Given the description of an element on the screen output the (x, y) to click on. 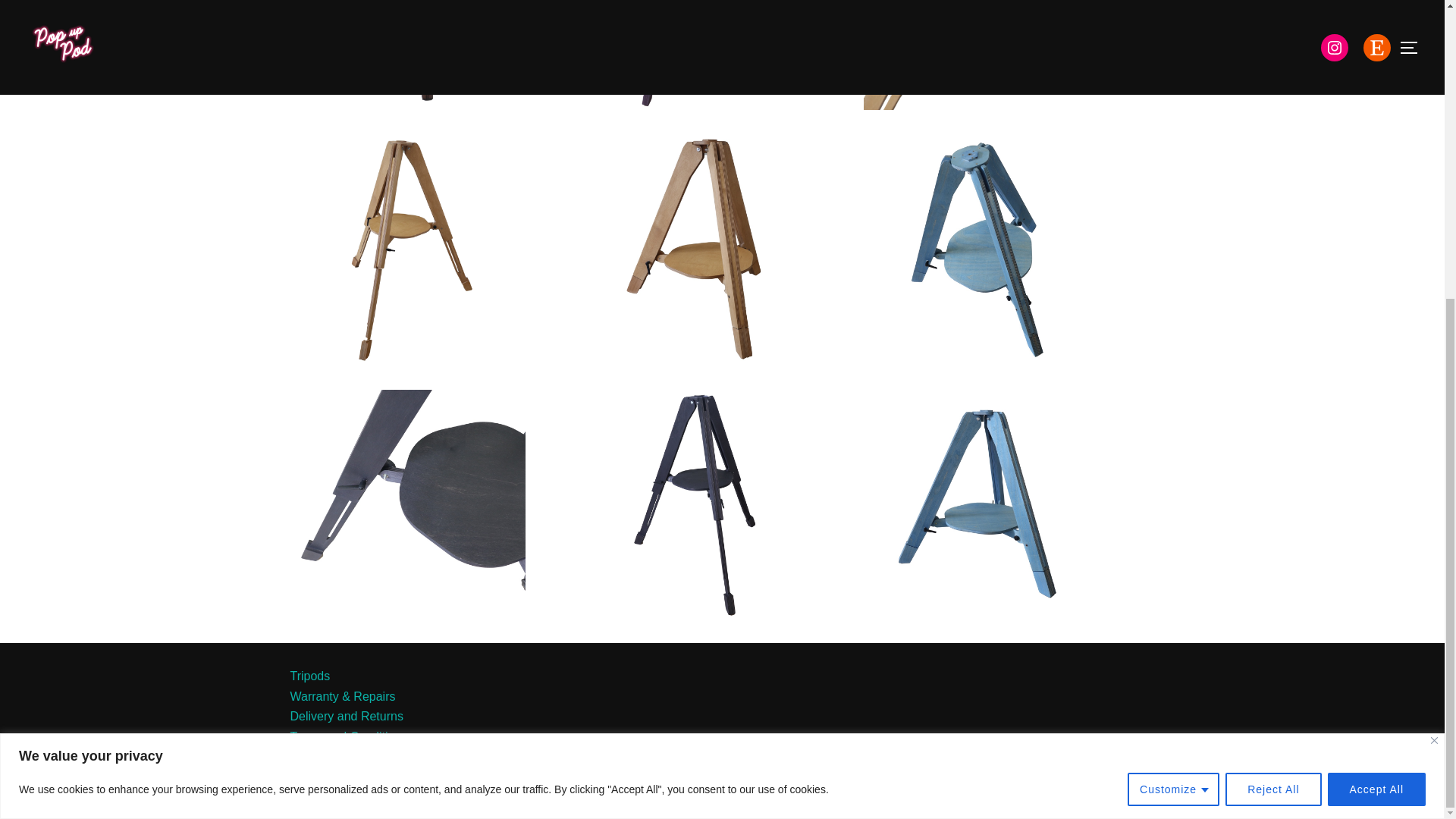
Reject All (1272, 325)
Delivery and Returns (346, 716)
Sitemap (311, 776)
Accept All (1376, 325)
Tripods (309, 675)
Privacy Policy (327, 756)
